Given the description of an element on the screen output the (x, y) to click on. 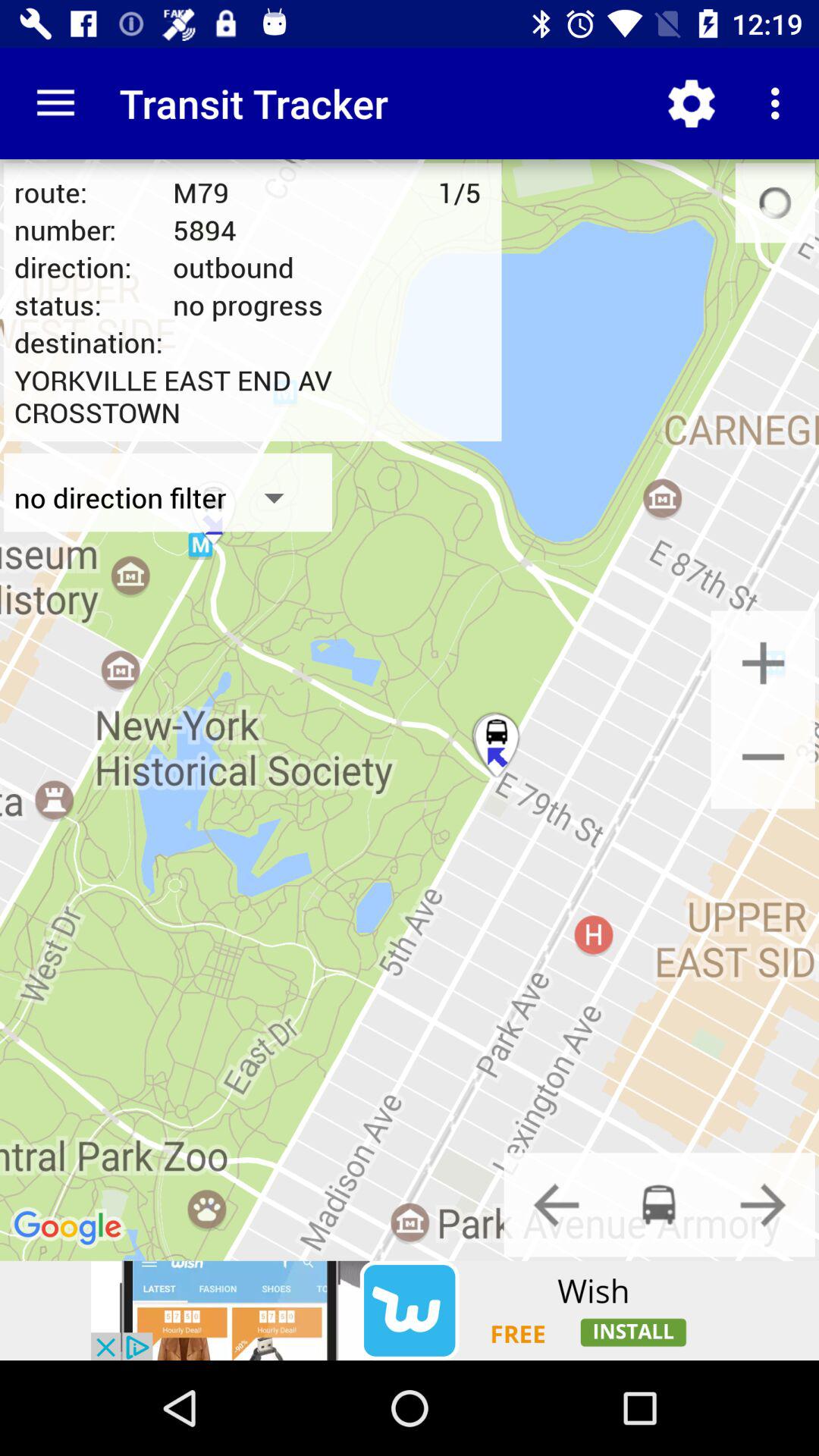
select bus option (659, 1204)
